Given the description of an element on the screen output the (x, y) to click on. 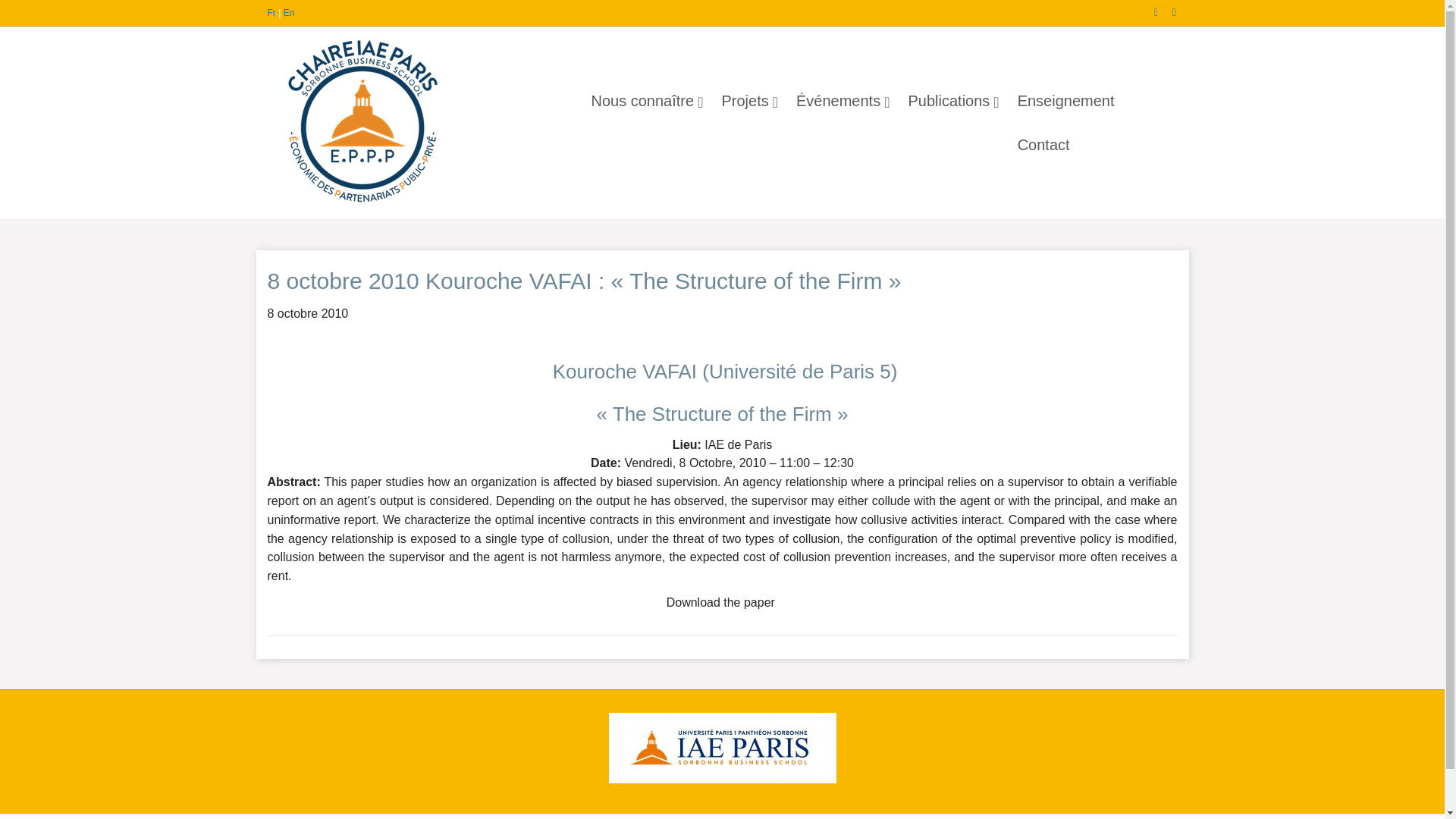
Twitter (1165, 11)
En (289, 12)
Facebook (1147, 11)
